Given the description of an element on the screen output the (x, y) to click on. 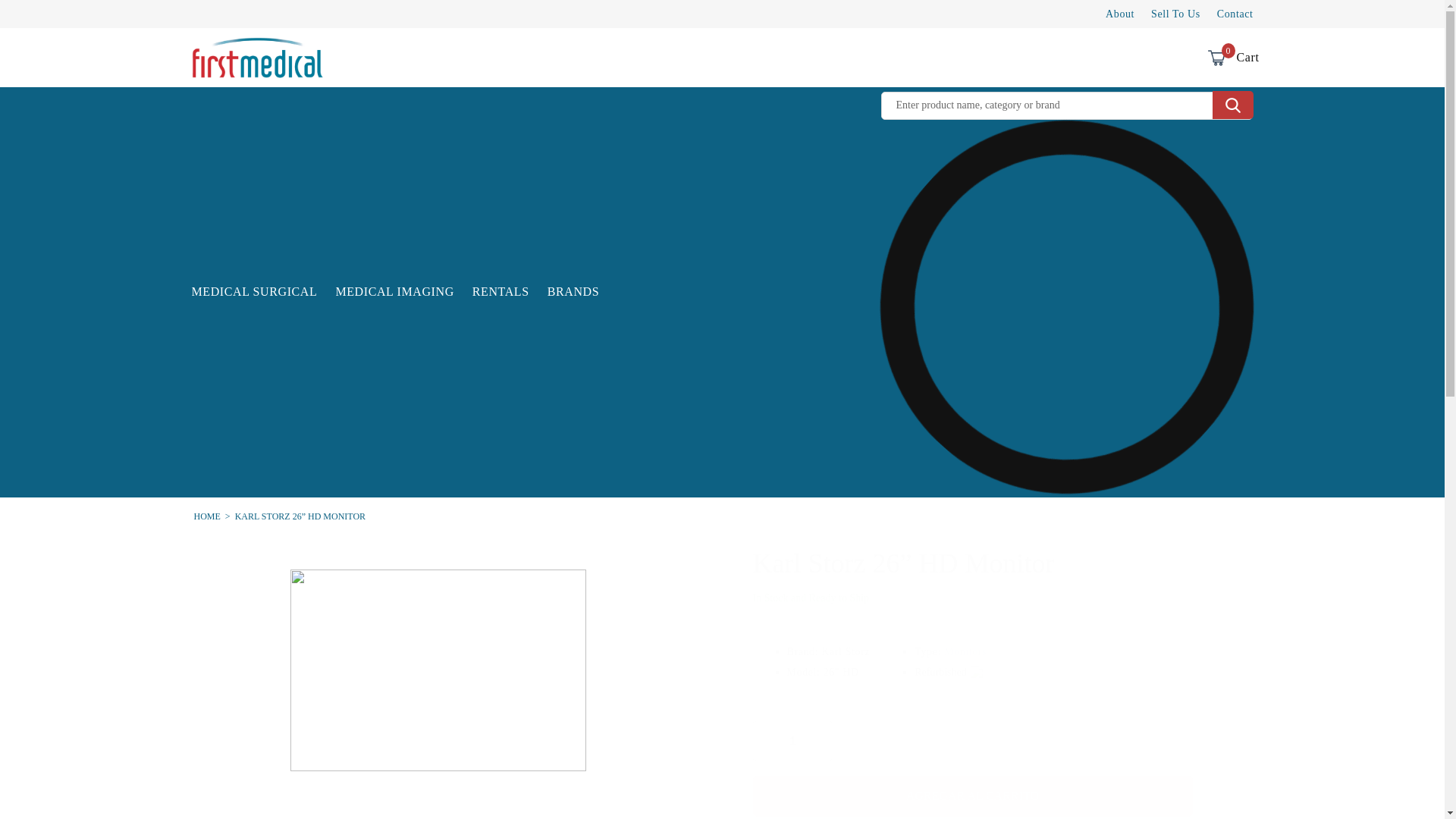
RENTALS (500, 291)
 HOME   (207, 516)
MEDICAL SURGICAL (254, 291)
Monitors (965, 651)
AGREGAR AL CARRITO (972, 795)
Ir directamente al contenido (1214, 57)
Sell To Us (45, 17)
BRANDS (1175, 13)
About (573, 291)
Abrir elemento multimedia 1 en una ventana modal (1119, 13)
MEDICAL IMAGING (437, 651)
Contact (394, 291)
